Given the description of an element on the screen output the (x, y) to click on. 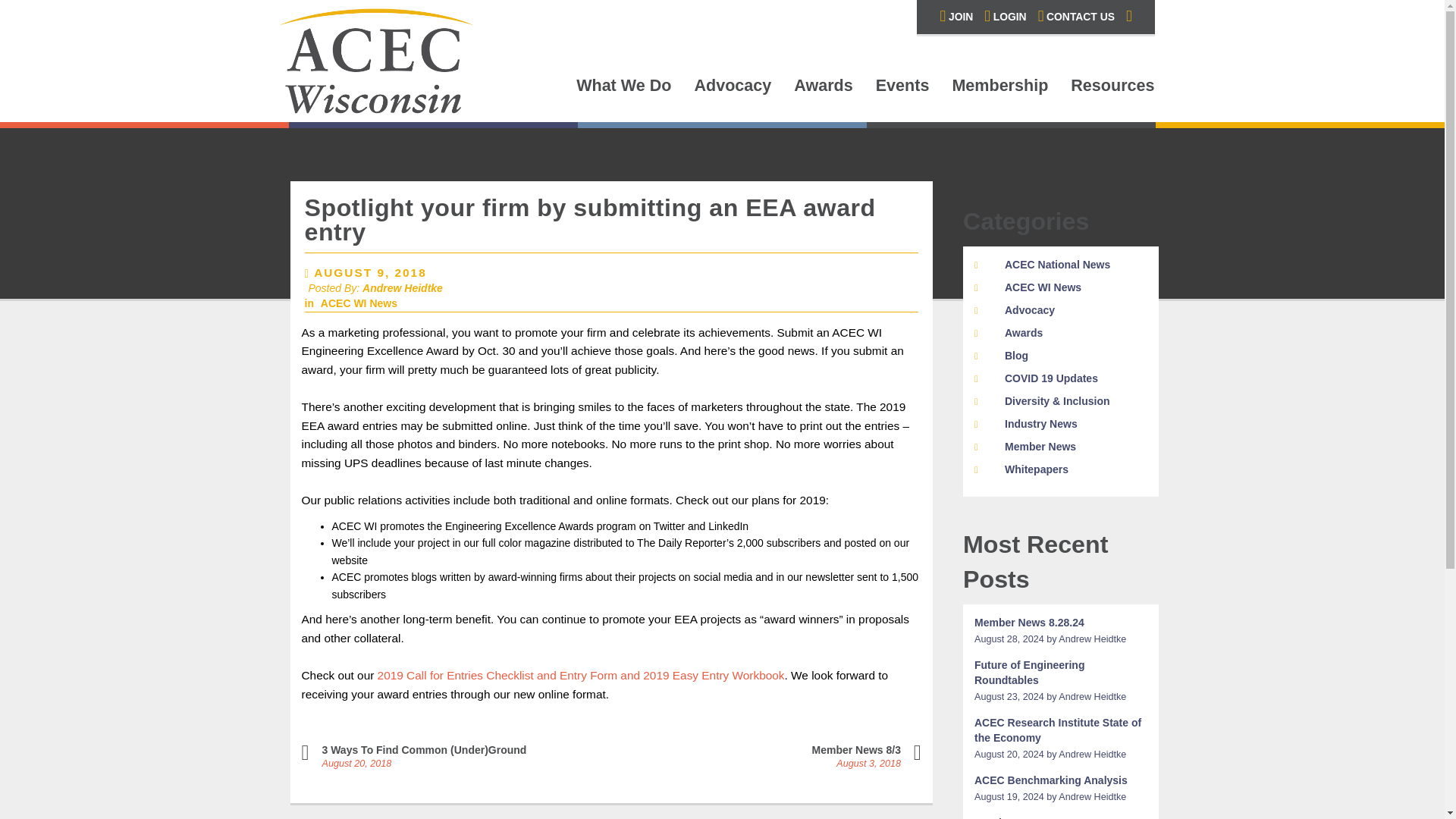
CONTACT US (1076, 16)
JOIN (955, 16)
Events (903, 87)
Resources (1112, 87)
Awards (822, 87)
Advocacy (732, 87)
Membership (1000, 87)
What We Do (623, 87)
LOGIN (1005, 16)
